Given the description of an element on the screen output the (x, y) to click on. 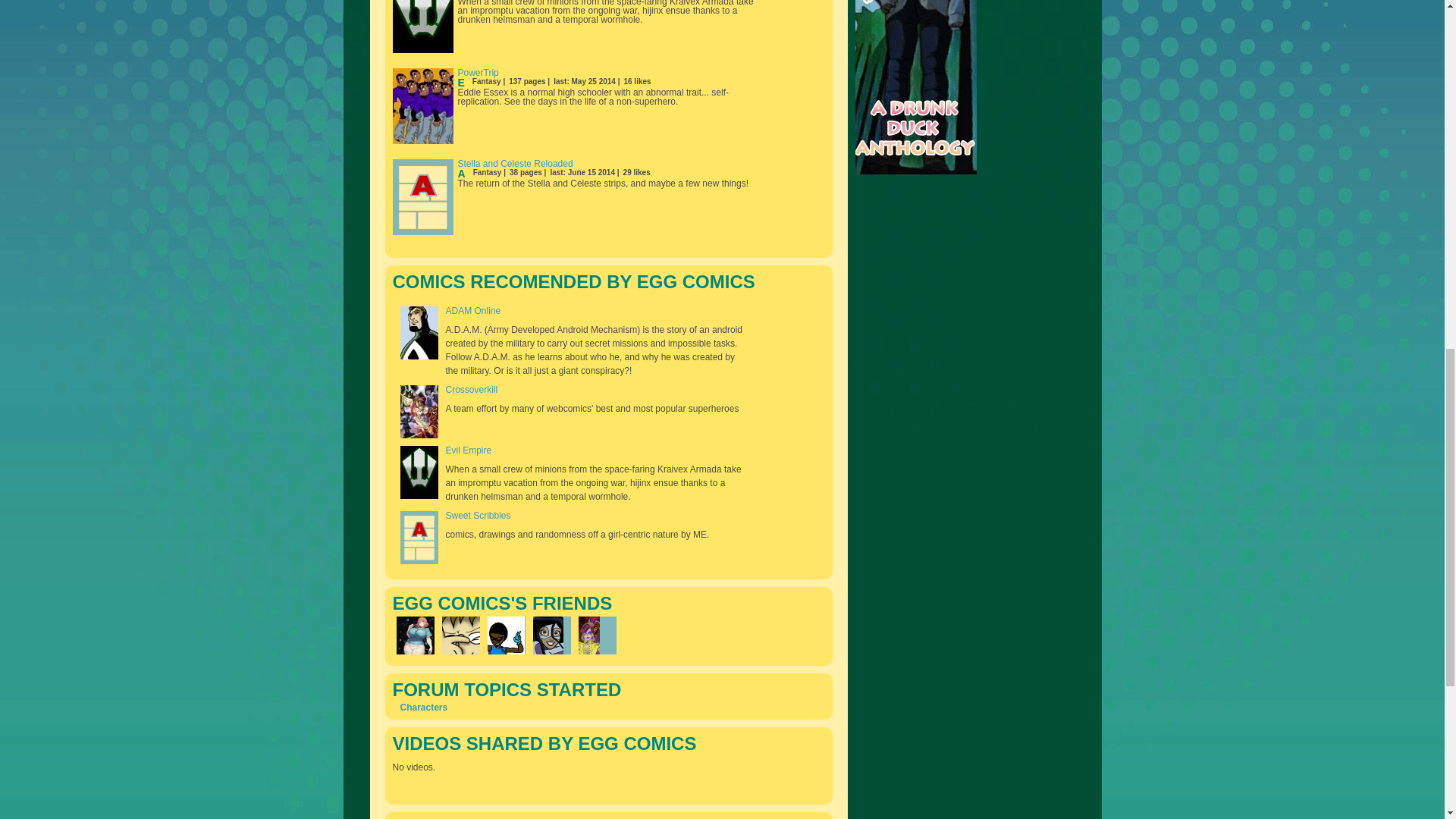
Evil Empire (468, 450)
Stella and Celeste Reloaded (515, 163)
cdmalcolm1 (414, 635)
ADAM Online (472, 310)
Characters (424, 706)
Sweet Scribbles (478, 515)
ComicMan86 (460, 635)
Blue jay (505, 635)
PowerTrip (478, 72)
Crossoverkill (471, 389)
